Given the description of an element on the screen output the (x, y) to click on. 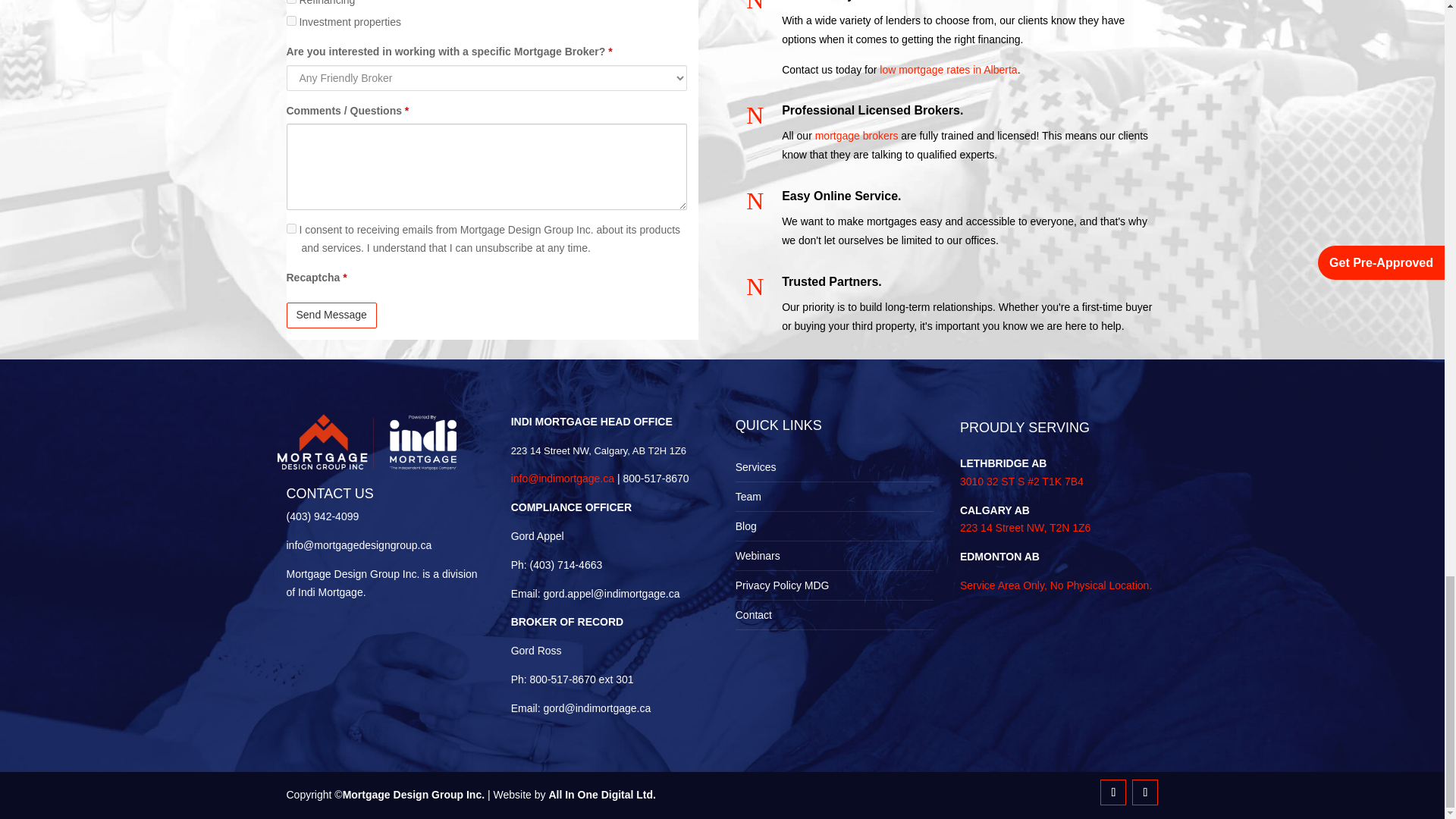
Follow on Facebook (1112, 792)
Investment properties (291, 20)
Send Message (331, 315)
Powered By (374, 441)
Refinancing (291, 2)
Follow on X (1144, 792)
